Given the description of an element on the screen output the (x, y) to click on. 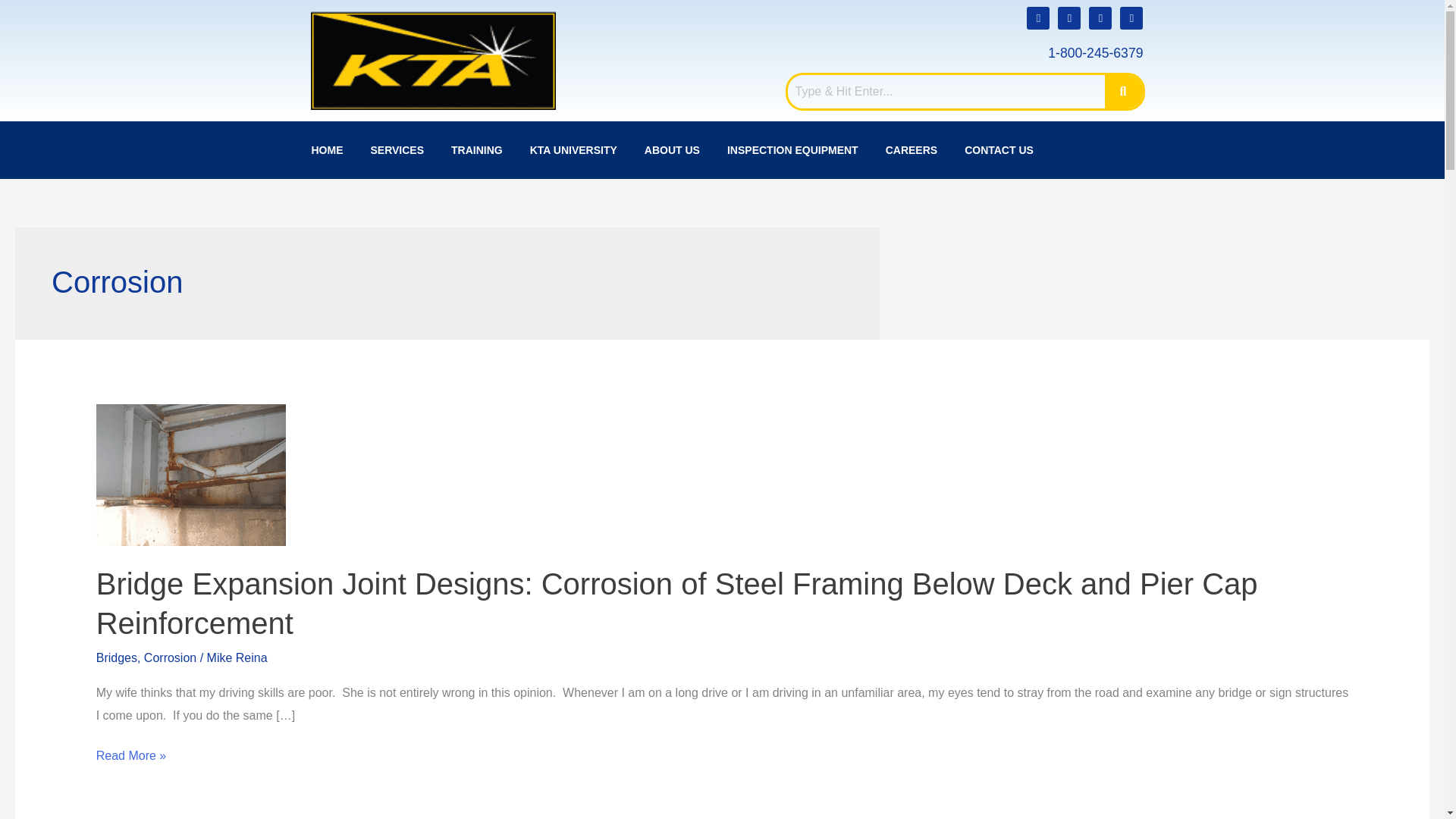
TRAINING (477, 149)
HOME (326, 149)
Search (946, 91)
Facebook-f (1100, 17)
Twitter (1130, 17)
KTA UNIVERSITY (573, 149)
ABOUT US (671, 149)
SERVICES (397, 149)
Linkedin (1037, 17)
View all posts by Mike Reina (236, 657)
